Given the description of an element on the screen output the (x, y) to click on. 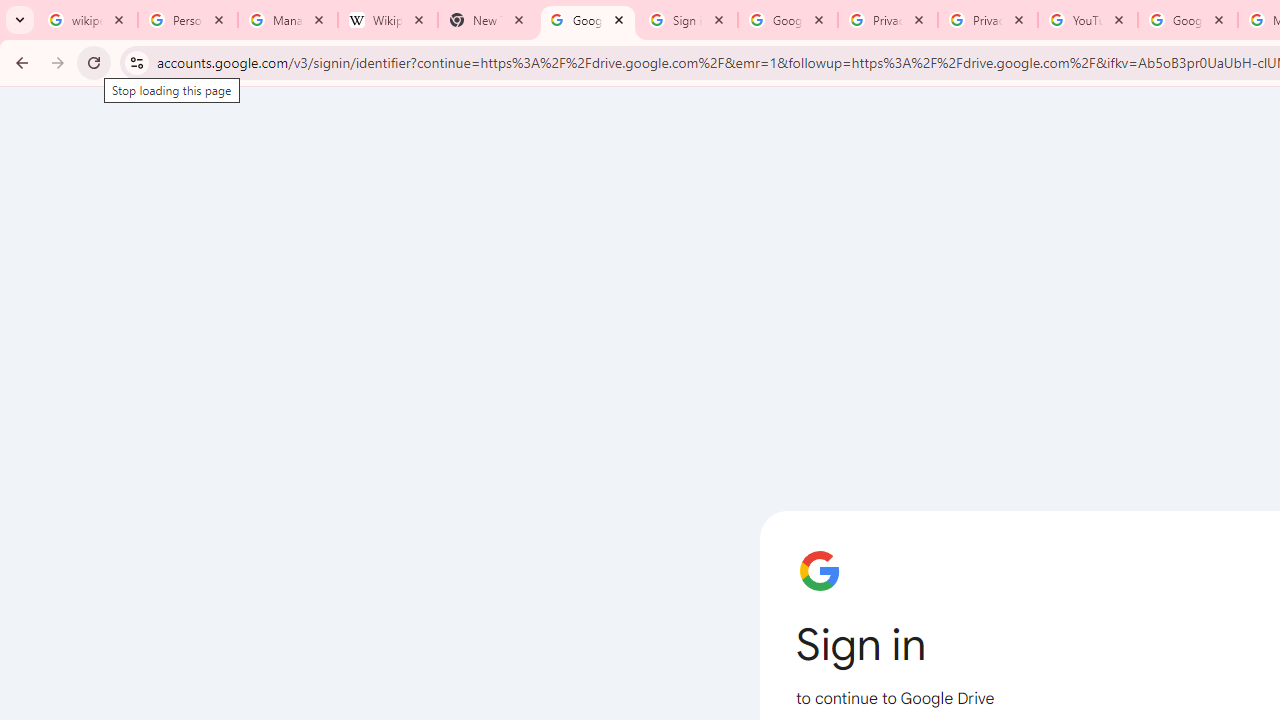
Google Drive: Sign-in (587, 20)
New Tab (487, 20)
Manage your Location History - Google Search Help (287, 20)
